Given the description of an element on the screen output the (x, y) to click on. 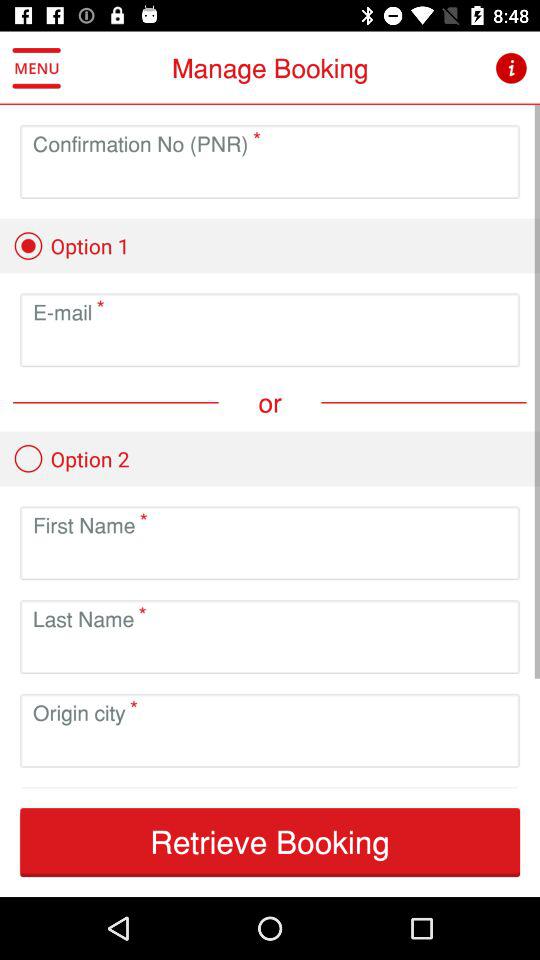
input name (270, 558)
